Given the description of an element on the screen output the (x, y) to click on. 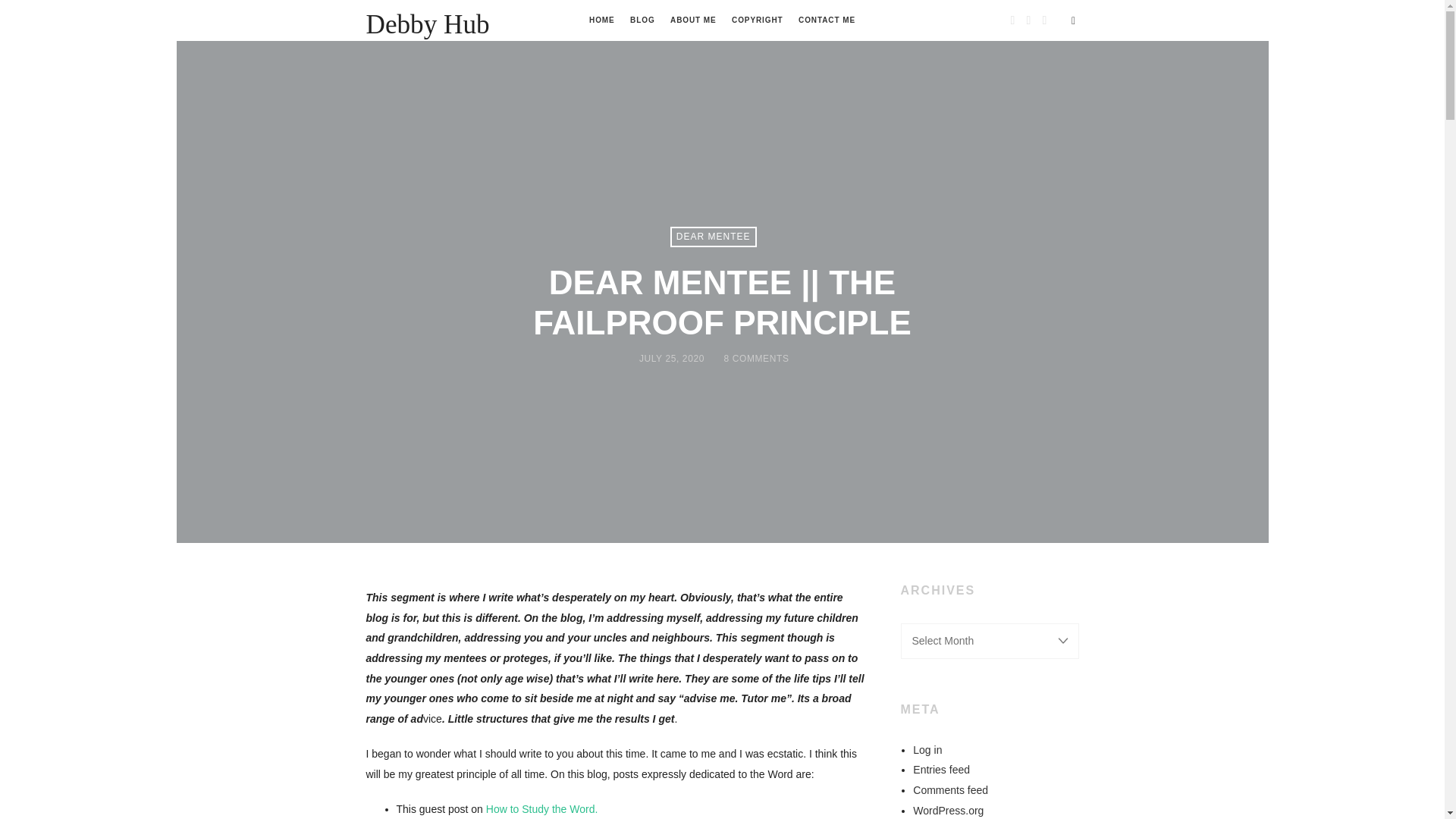
ABOUT ME (692, 20)
DEAR MENTEE (713, 236)
How to Study the Word. (542, 808)
COPYRIGHT (757, 20)
Debby Hub (427, 24)
CONTACT ME (826, 20)
8 COMMENTS (756, 357)
